Given the description of an element on the screen output the (x, y) to click on. 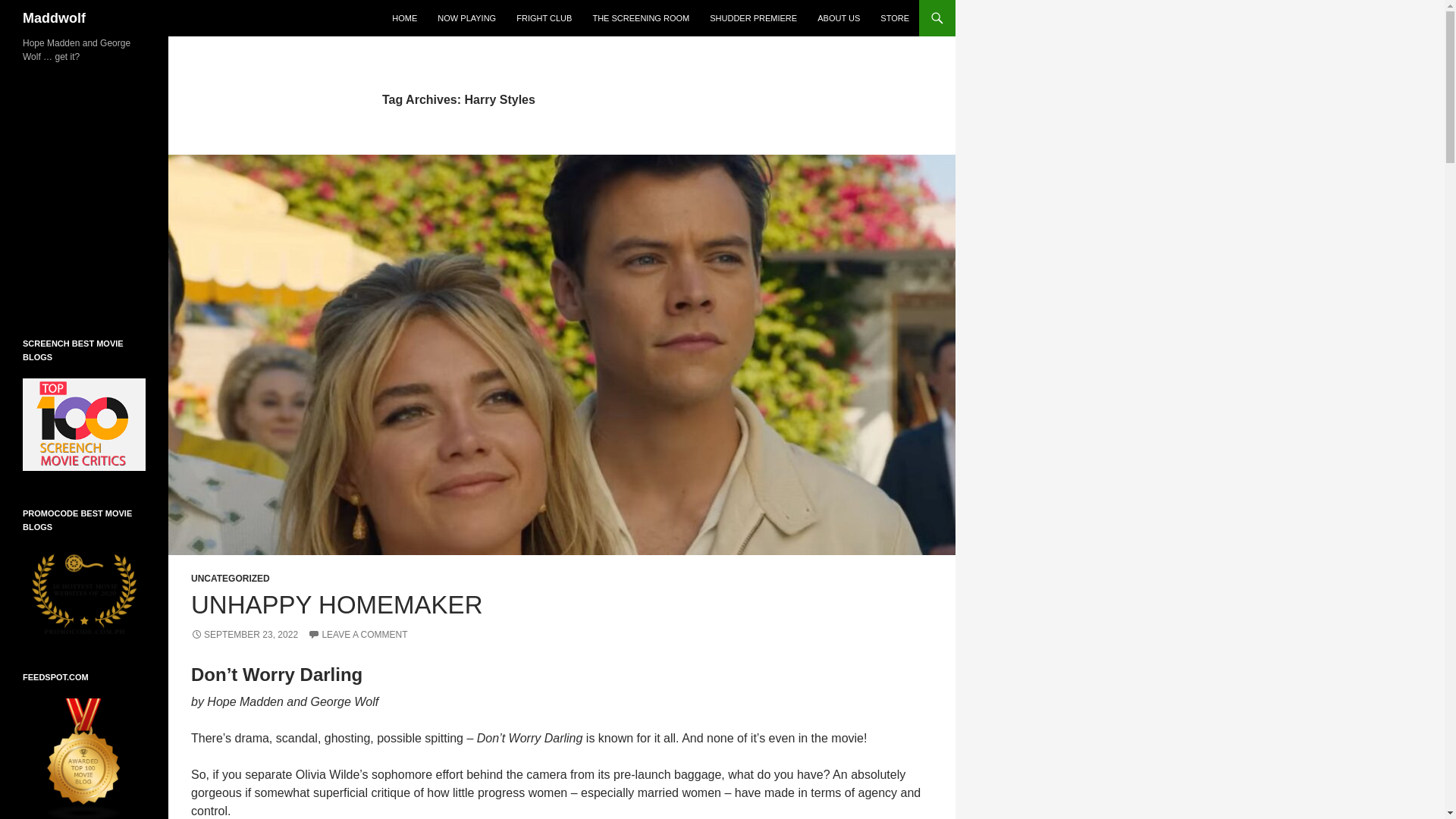
Maddwolf (54, 18)
Banners for 30 Hottest Movie Websites of 2020 (84, 590)
NOW PLAYING (466, 18)
UNHAPPY HOMEMAKER (335, 604)
FRIGHT CLUB (543, 18)
ABOUT US (838, 18)
THE SCREENING ROOM (640, 18)
UNCATEGORIZED (229, 578)
Movie blogs (84, 758)
STORE (894, 18)
